Given the description of an element on the screen output the (x, y) to click on. 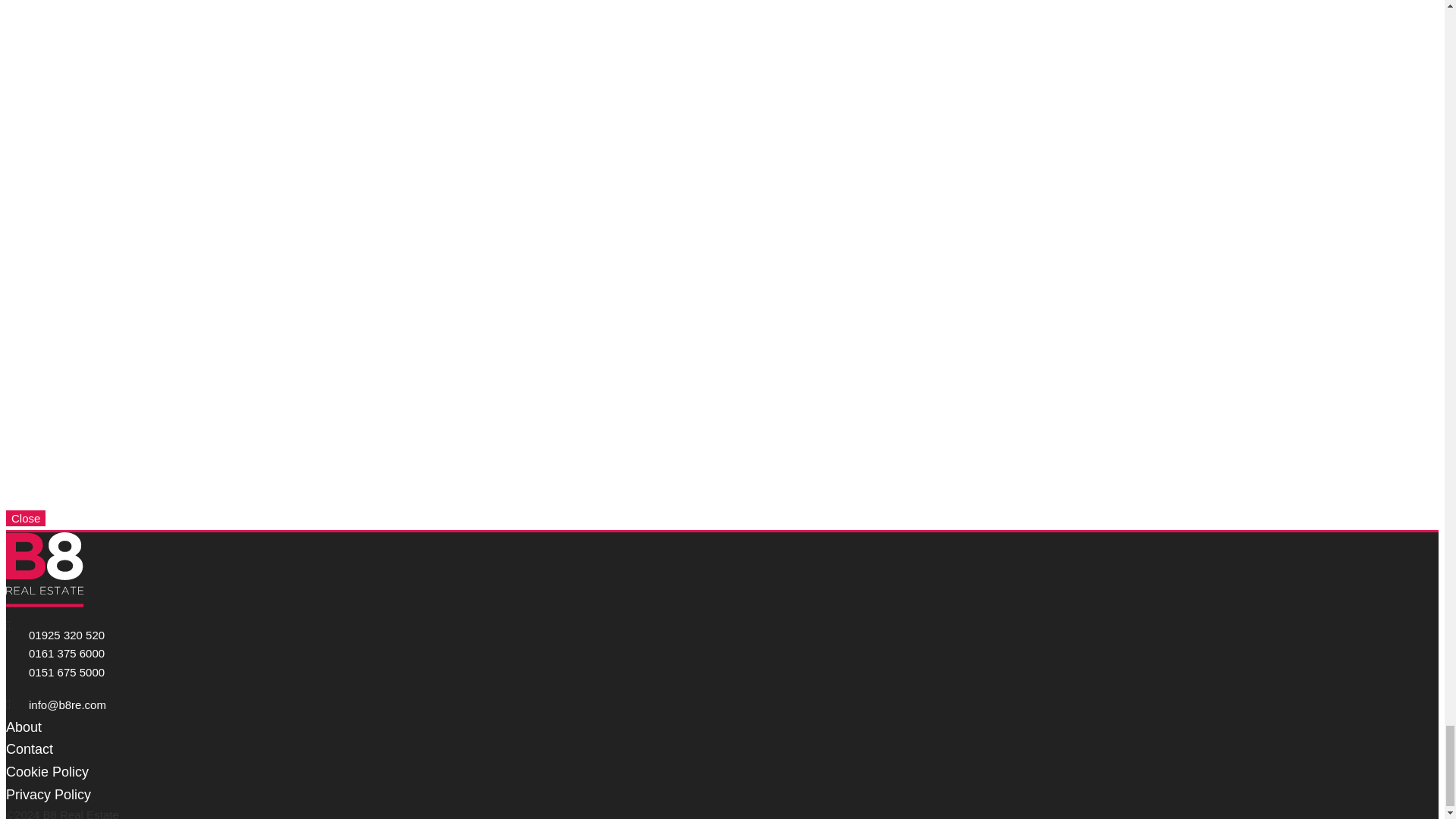
B8 Real Estate (44, 569)
Close (25, 518)
